Given the description of an element on the screen output the (x, y) to click on. 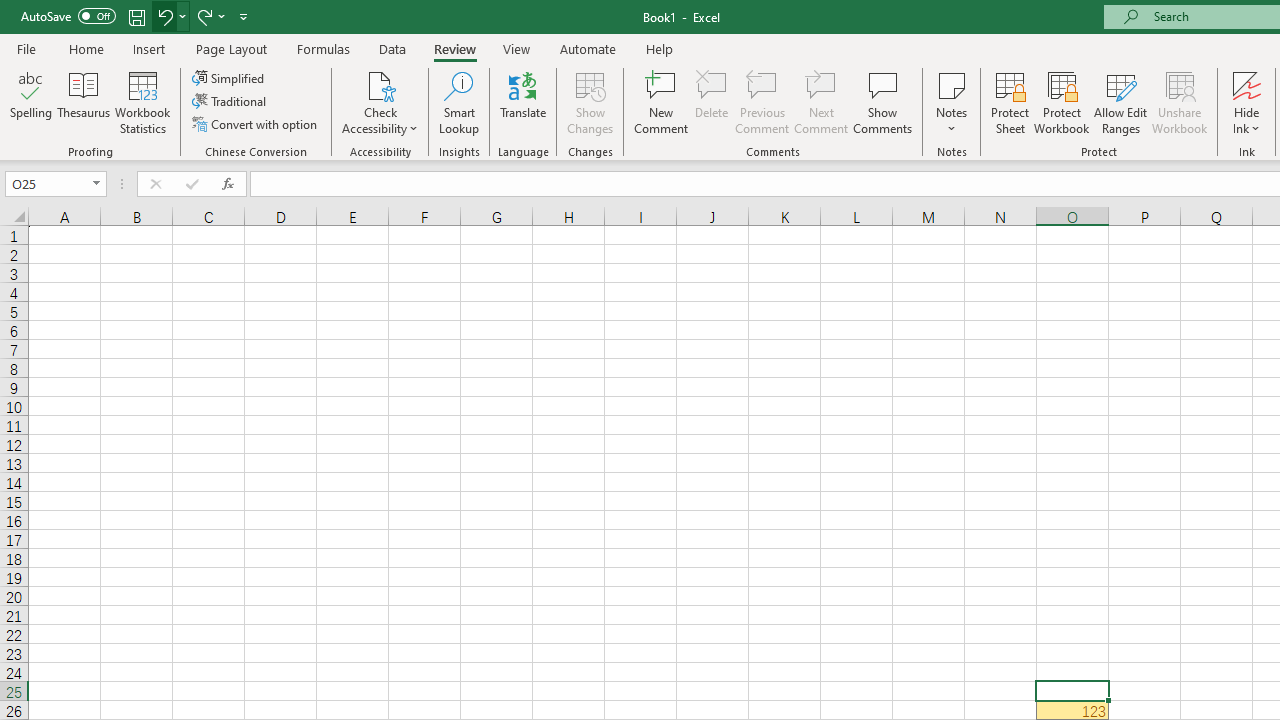
New Comment (661, 102)
Traditional (230, 101)
Show Comments (883, 102)
Simplified (230, 78)
Allow Edit Ranges (1120, 102)
Spelling... (31, 102)
Translate (523, 102)
Next Comment (821, 102)
